Given the description of an element on the screen output the (x, y) to click on. 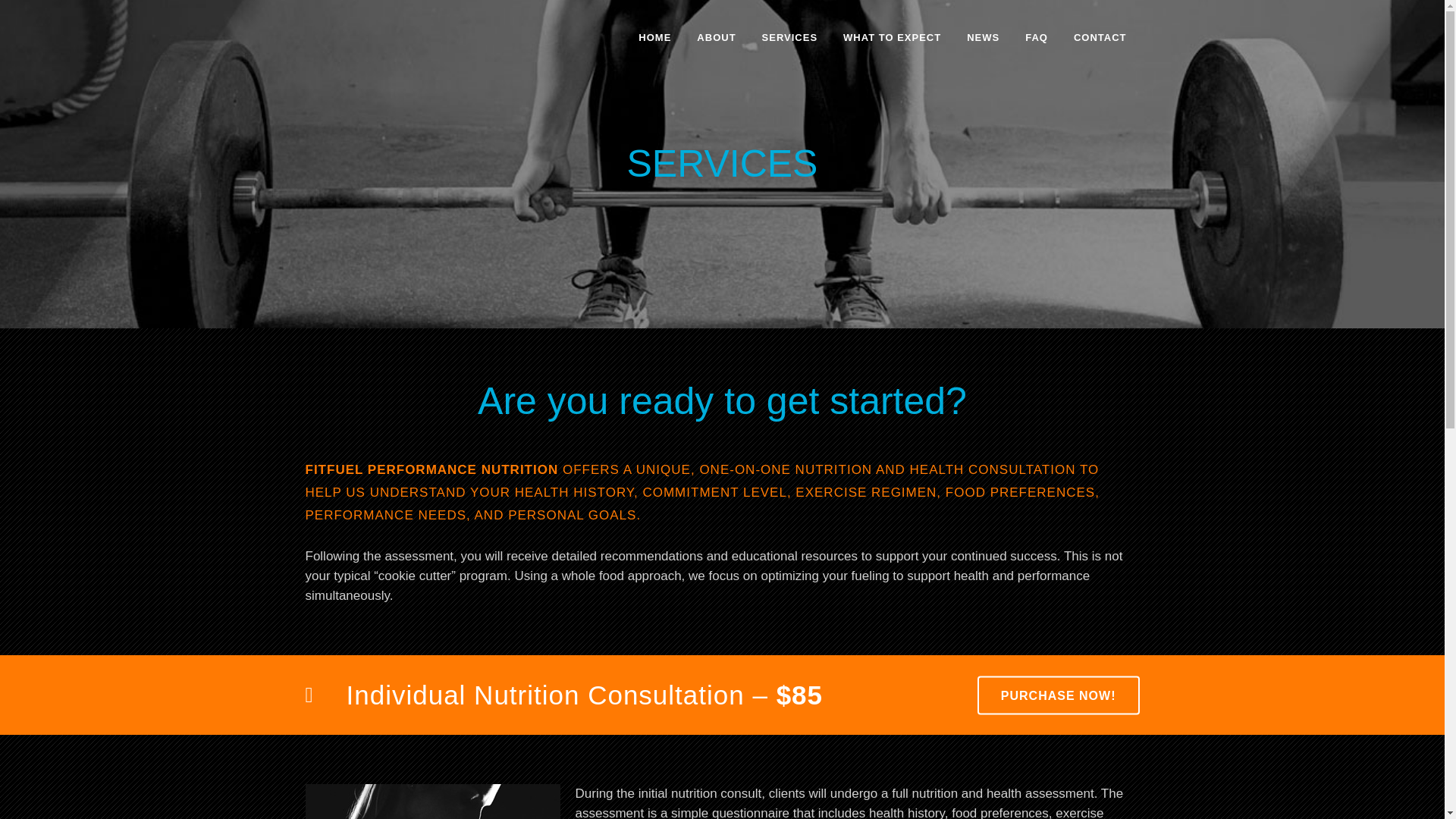
WHAT TO EXPECT (891, 38)
SERVICES (790, 38)
PURCHASE NOW! (1058, 694)
CONTACT (1100, 38)
